Given the description of an element on the screen output the (x, y) to click on. 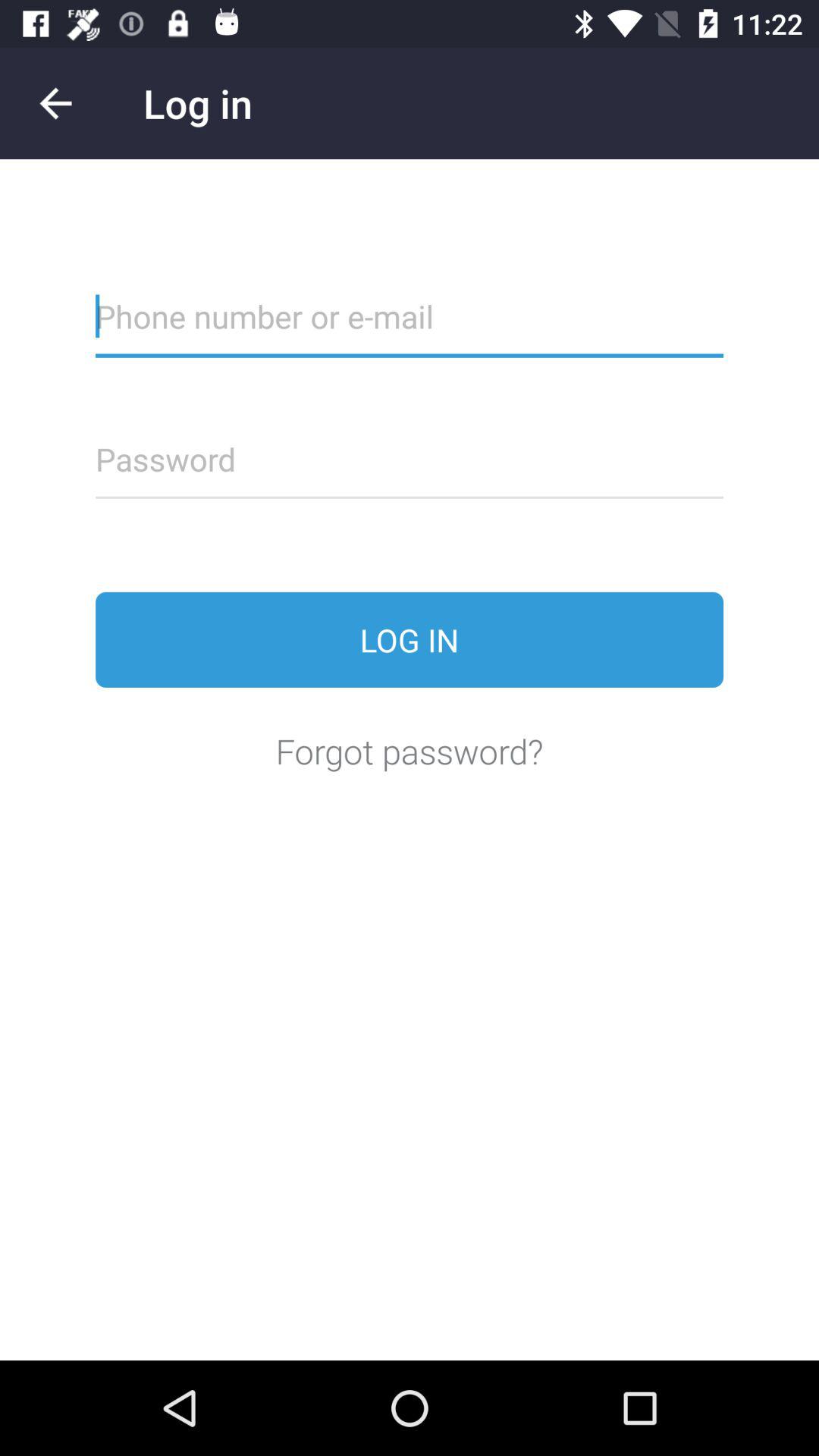
type in phone number or email (409, 325)
